Given the description of an element on the screen output the (x, y) to click on. 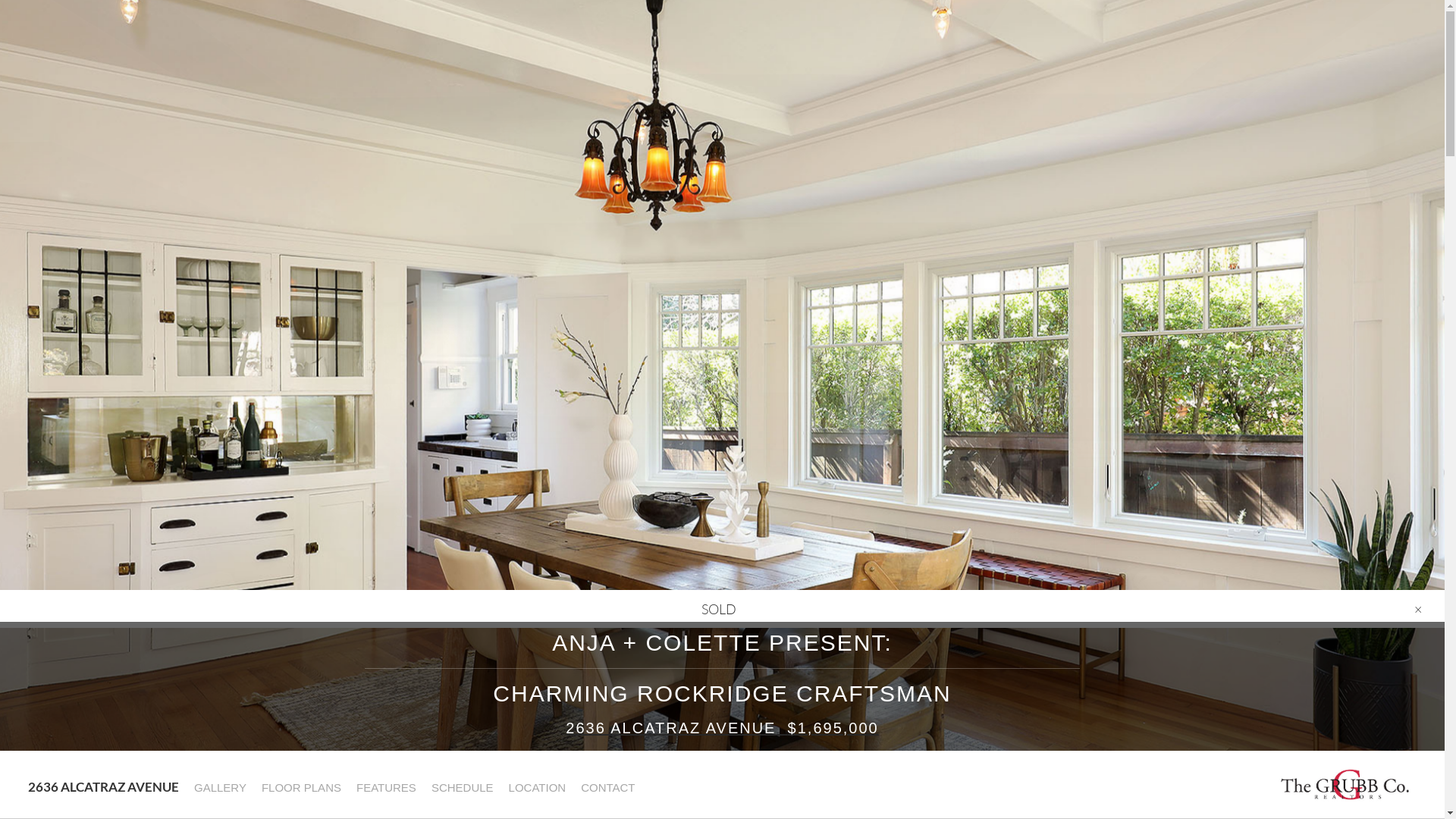
FLOOR PLANS Element type: text (300, 787)
FEATURES Element type: text (385, 787)
LOCATION Element type: text (536, 787)
2636 ALCATRAZ AVENUE  $1,695,000 Element type: text (722, 727)
2636 ALCATRAZ AVENUE Element type: text (102, 785)
CONTACT Element type: text (606, 787)
SCHEDULE Element type: text (461, 787)
GALLERY Element type: text (219, 787)
